Given the description of an element on the screen output the (x, y) to click on. 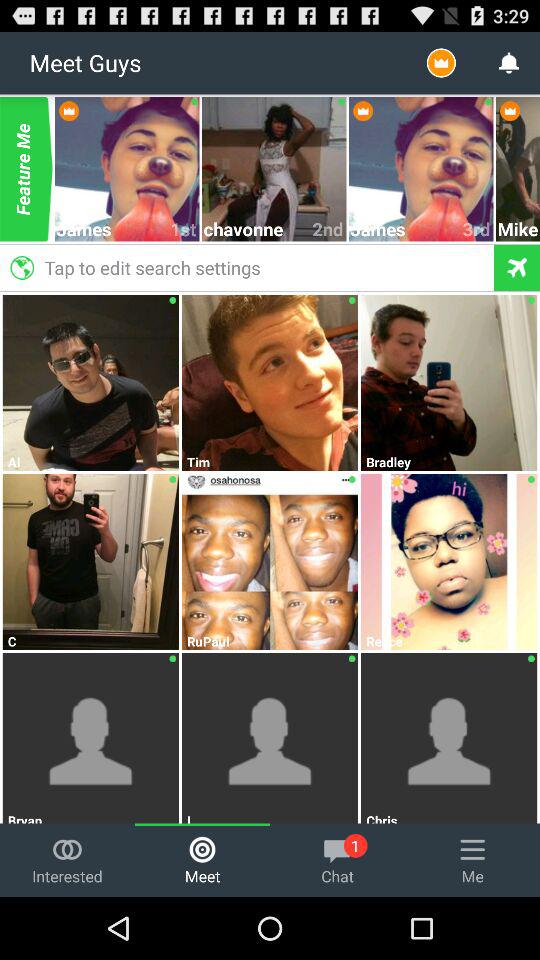
go back (516, 267)
